Given the description of an element on the screen output the (x, y) to click on. 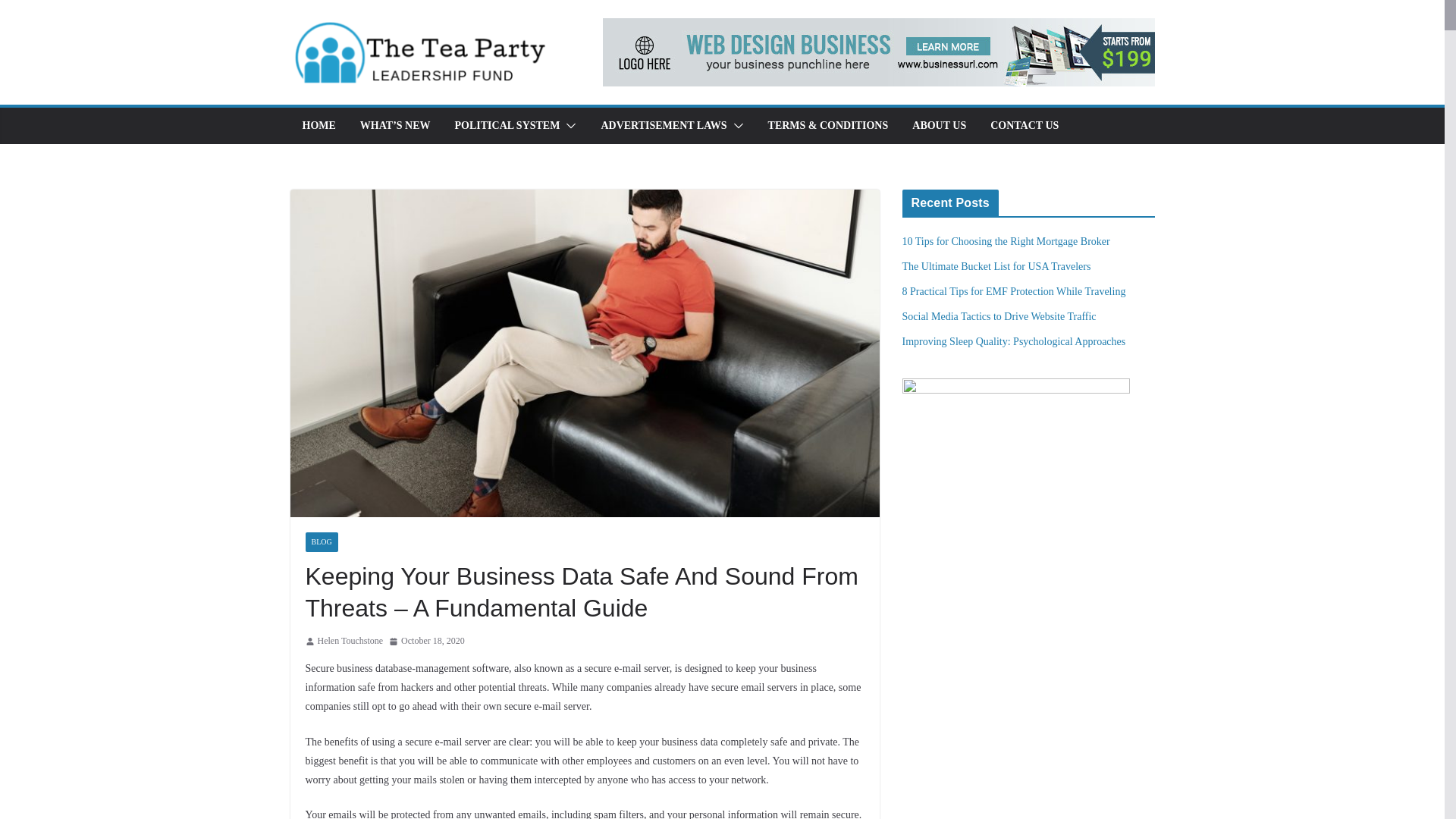
10 Tips for Choosing the Right Mortgage Broker (1005, 241)
Social Media Tactics to Drive Website Traffic (999, 316)
ADVERTISEMENT LAWS (662, 125)
HOME (317, 125)
Helen Touchstone (349, 641)
BLOG (320, 542)
The Ultimate Bucket List for USA Travelers (996, 266)
ABOUT US (939, 125)
8 Practical Tips for EMF Protection While Traveling (1013, 291)
October 18, 2020 (426, 641)
